Given the description of an element on the screen output the (x, y) to click on. 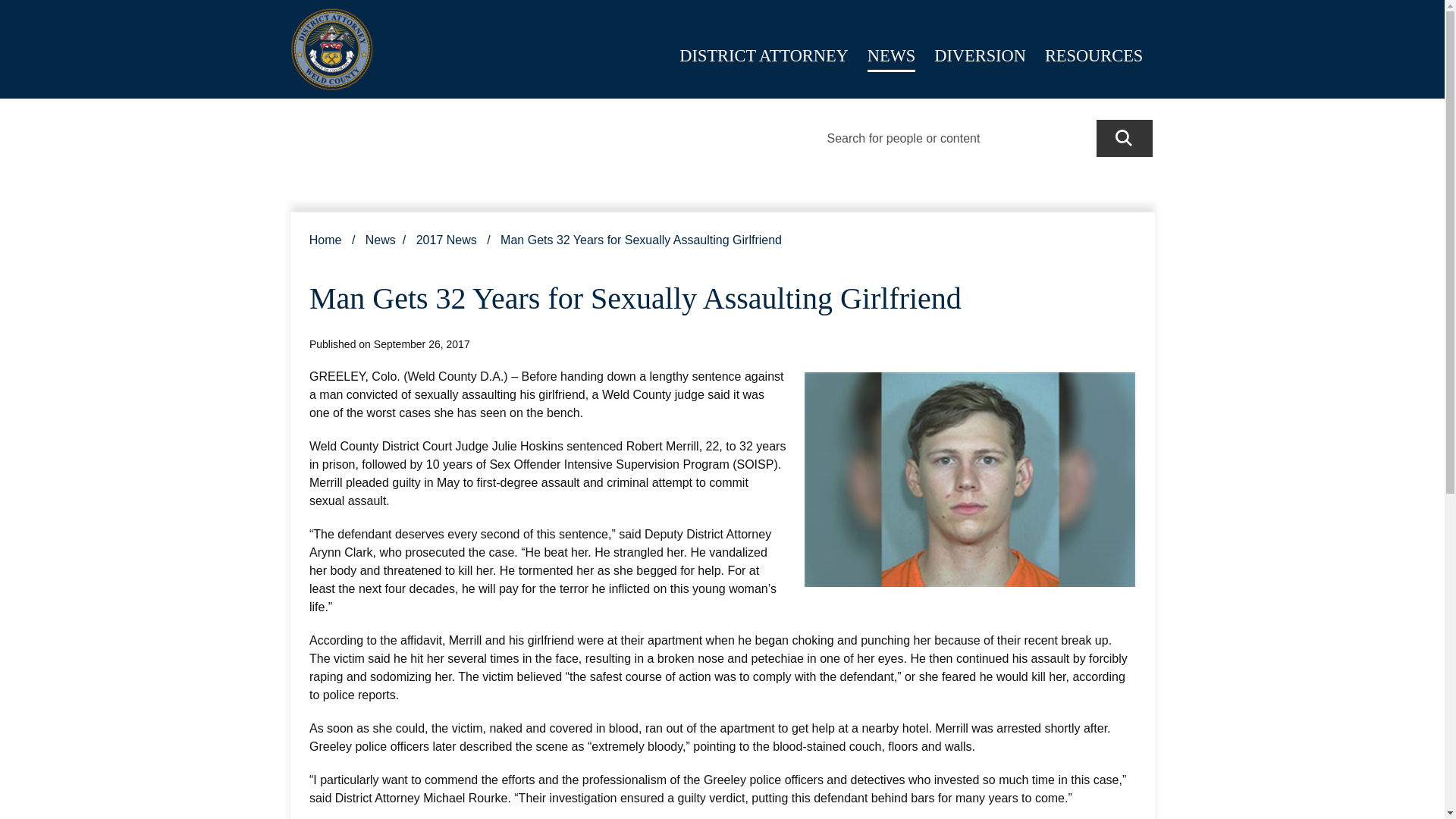
RESOURCES (1093, 50)
Search (1123, 137)
Weld County District Attorney - Home - Logo (330, 48)
Sub-menu (831, 47)
DISTRICT ATTORNEY (763, 50)
Sub-menu (898, 47)
NEWS (891, 50)
Sub-menu (1009, 47)
DIVERSION (980, 50)
Search (1123, 137)
Sub-menu (1125, 47)
